Given the description of an element on the screen output the (x, y) to click on. 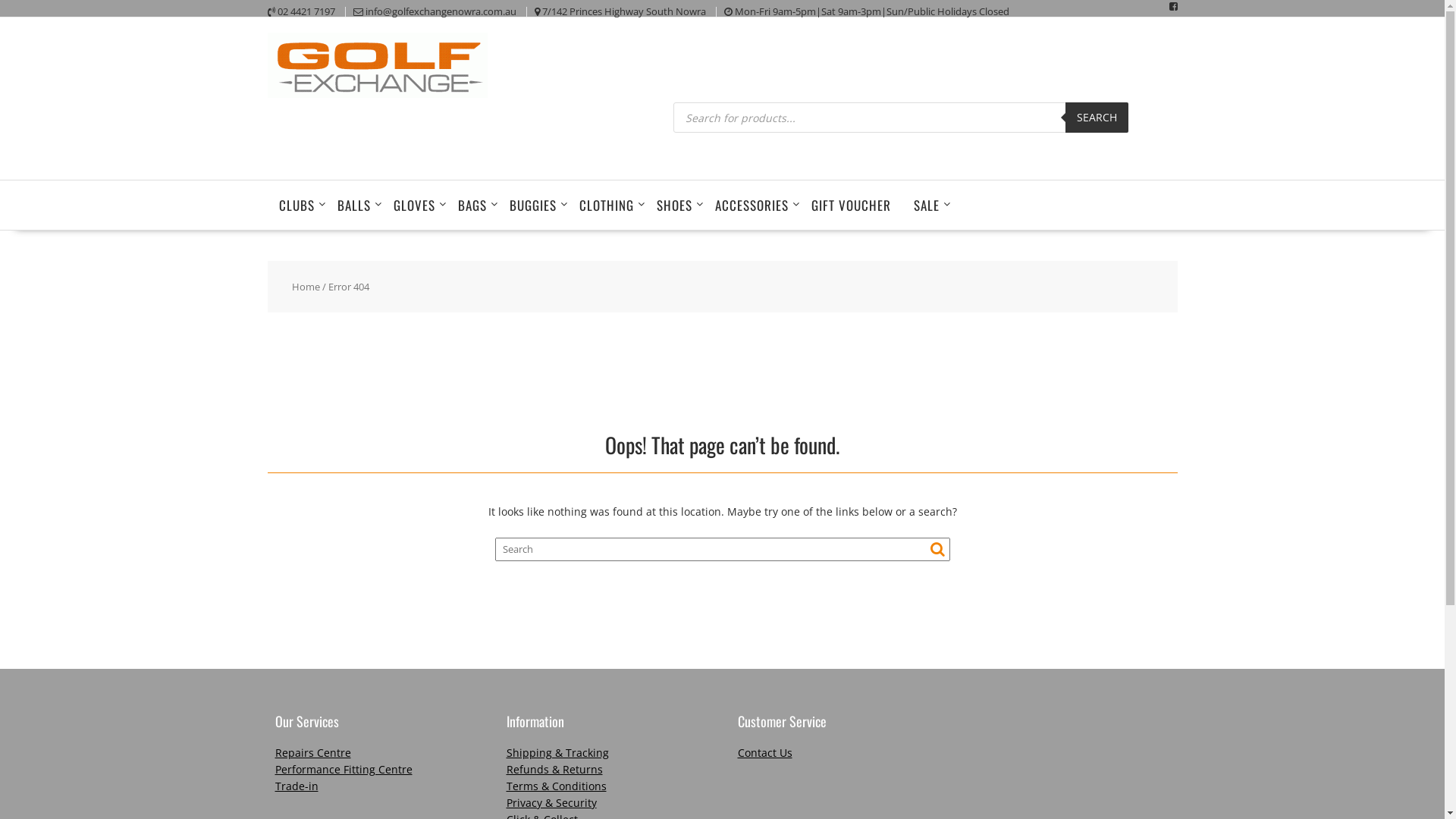
CLUBS Element type: text (295, 204)
Performance Fitting Centre Element type: text (342, 769)
BUGGIES Element type: text (532, 204)
info@golfexchangenowra.com.au Element type: text (440, 11)
BALLS Element type: text (354, 204)
CLOTHING Element type: text (605, 204)
Shipping & Tracking Element type: text (557, 752)
7/142 Princes Highway South Nowra Element type: text (623, 11)
SALE Element type: text (926, 204)
GLOVES Element type: text (414, 204)
Contact Us Element type: text (764, 752)
Terms & Conditions Element type: text (556, 785)
SHOES Element type: text (673, 204)
Repairs Centre Element type: text (312, 752)
BAGS Element type: text (471, 204)
ACCESSORIES Element type: text (751, 204)
SEARCH Element type: text (1095, 117)
GIFT VOUCHER Element type: text (850, 204)
Refunds & Returns Element type: text (554, 769)
Trade-in Element type: text (295, 785)
Home Element type: text (305, 286)
Privacy & Security Element type: text (551, 802)
